Given the description of an element on the screen output the (x, y) to click on. 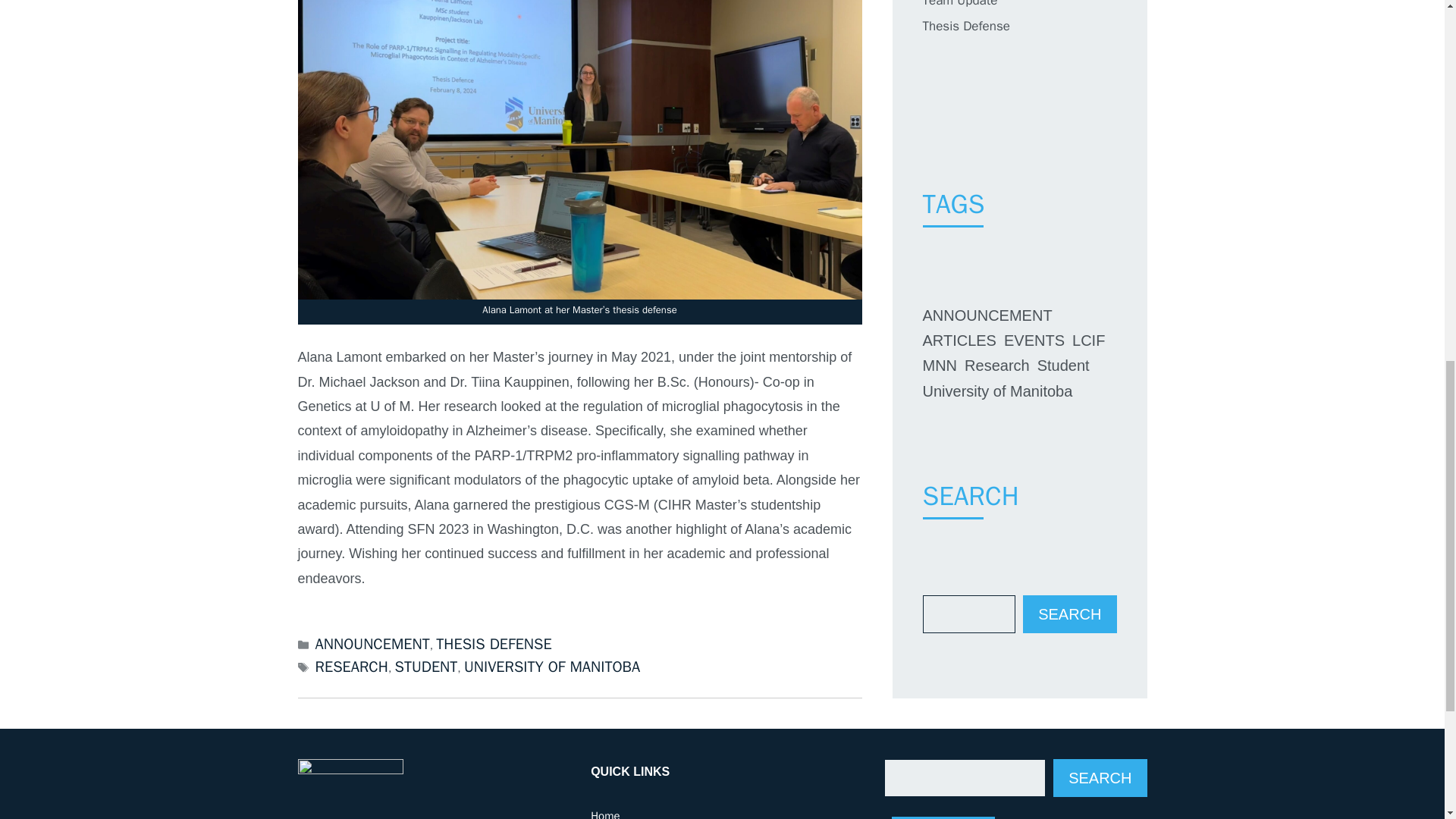
ANNOUNCEMENT (372, 643)
EVENTS (1034, 340)
ARTICLES (958, 340)
UNIVERSITY OF MANITOBA (552, 666)
ANNOUNCEMENT (986, 315)
Thesis Defense (965, 26)
Team Update (959, 4)
RESEARCH (351, 666)
STUDENT (426, 666)
THESIS DEFENSE (493, 643)
